Given the description of an element on the screen output the (x, y) to click on. 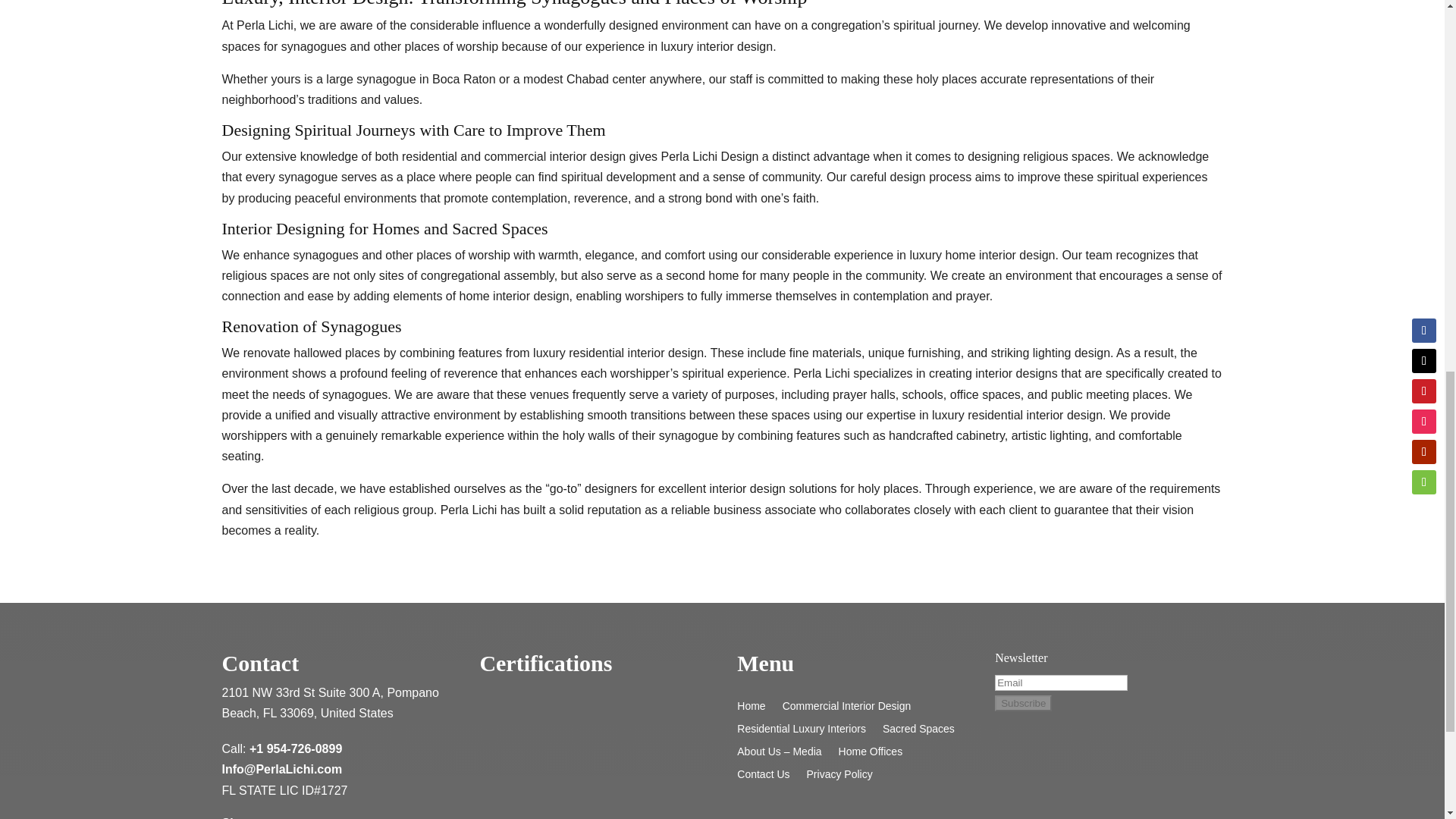
Subscribe (1022, 703)
Contact Us (762, 777)
Home (750, 709)
Subscribe (1022, 703)
Sitemap (244, 817)
certifications 1 (585, 758)
Commercial Interior Design (847, 709)
Privacy Policy (839, 777)
Sacred Spaces (918, 731)
Residential Luxury Interiors (801, 731)
Home Offices (870, 754)
